Given the description of an element on the screen output the (x, y) to click on. 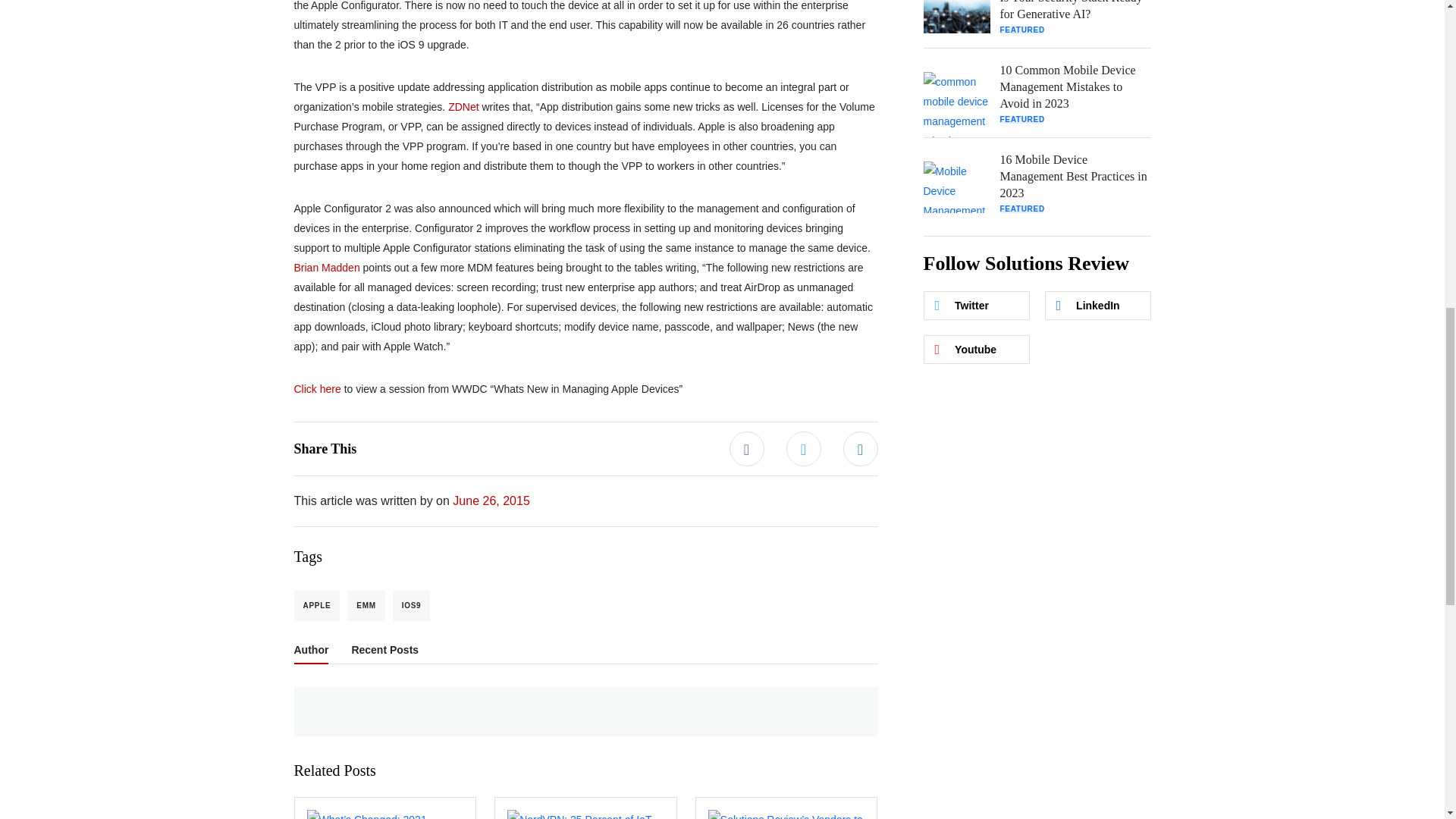
EMM (365, 604)
Recent Posts (384, 651)
June 26, 2015 (490, 500)
APPLE (317, 604)
Brian Madden (326, 266)
Click here (317, 387)
Author (311, 652)
IOS9 (411, 604)
ZDNet (463, 105)
